Given the description of an element on the screen output the (x, y) to click on. 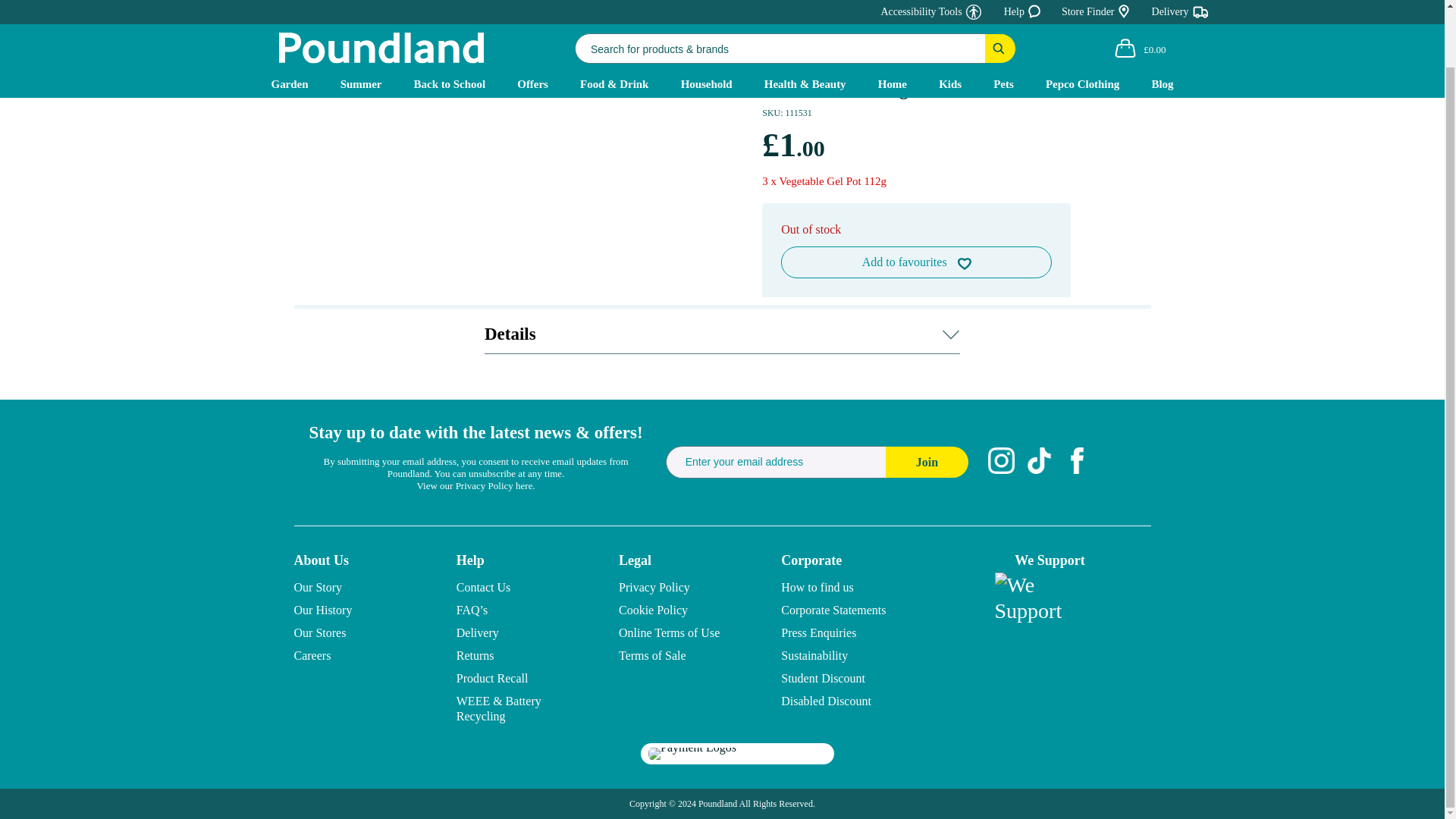
Garden (289, 22)
Summer (361, 22)
Join (927, 461)
Search (1000, 0)
Go to Home Page (306, 51)
